Given the description of an element on the screen output the (x, y) to click on. 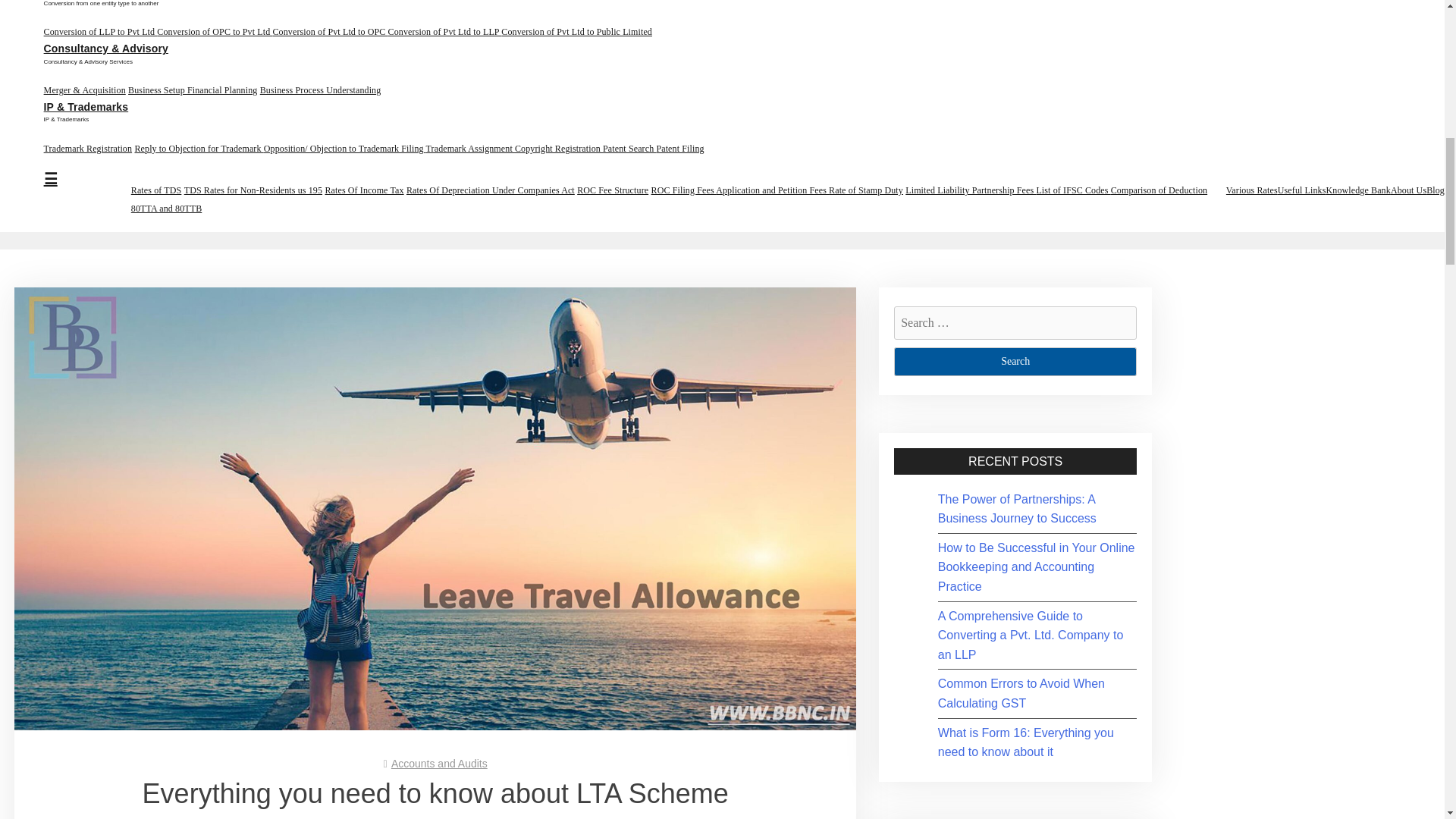
Search (1015, 361)
Search (1015, 361)
